Given the description of an element on the screen output the (x, y) to click on. 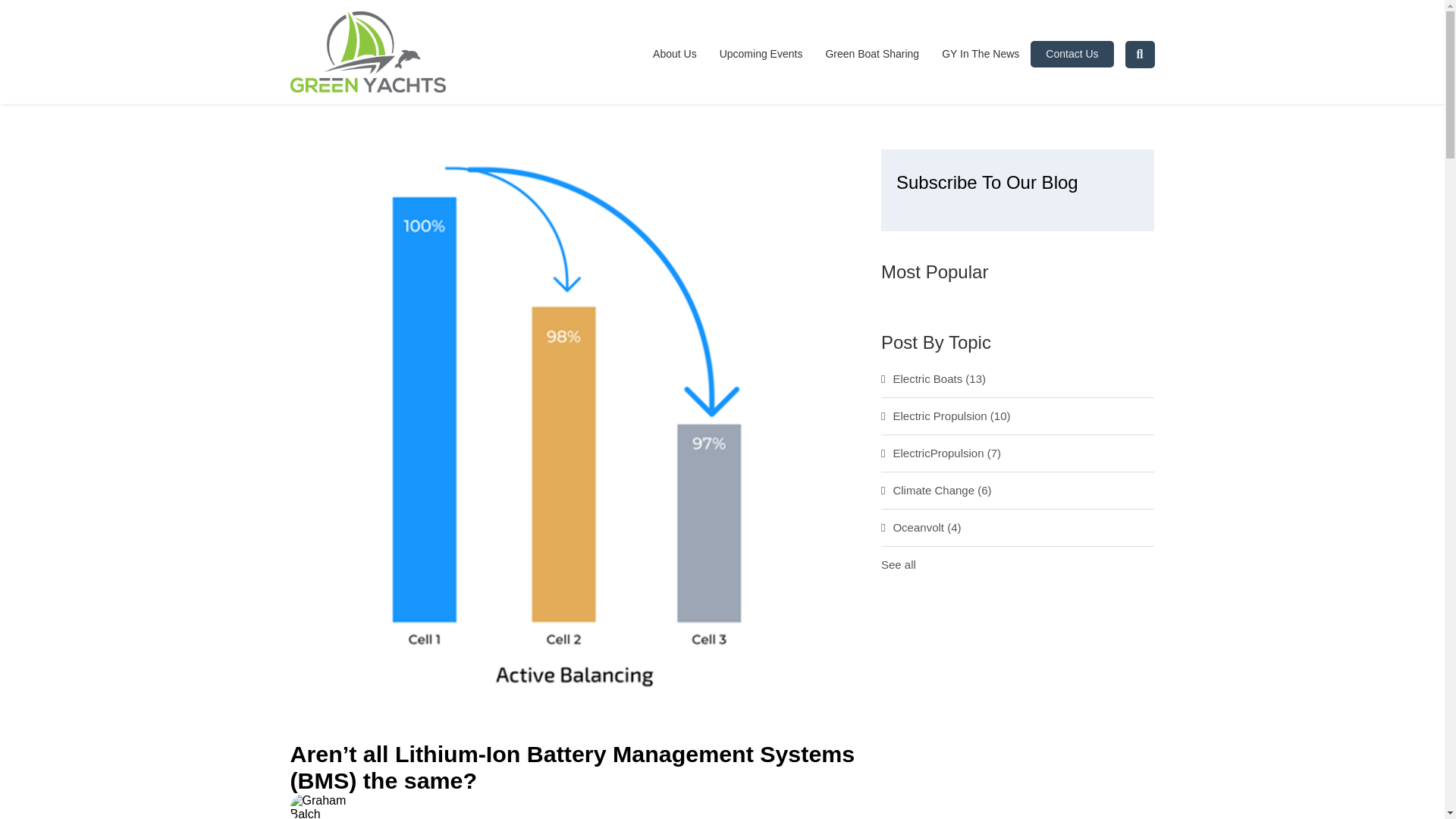
GY In The News (980, 53)
Graham Balch (455, 818)
Contact Us (1071, 53)
Upcoming Events (760, 53)
Green Boat Sharing (871, 53)
About Us (679, 53)
